Given the description of an element on the screen output the (x, y) to click on. 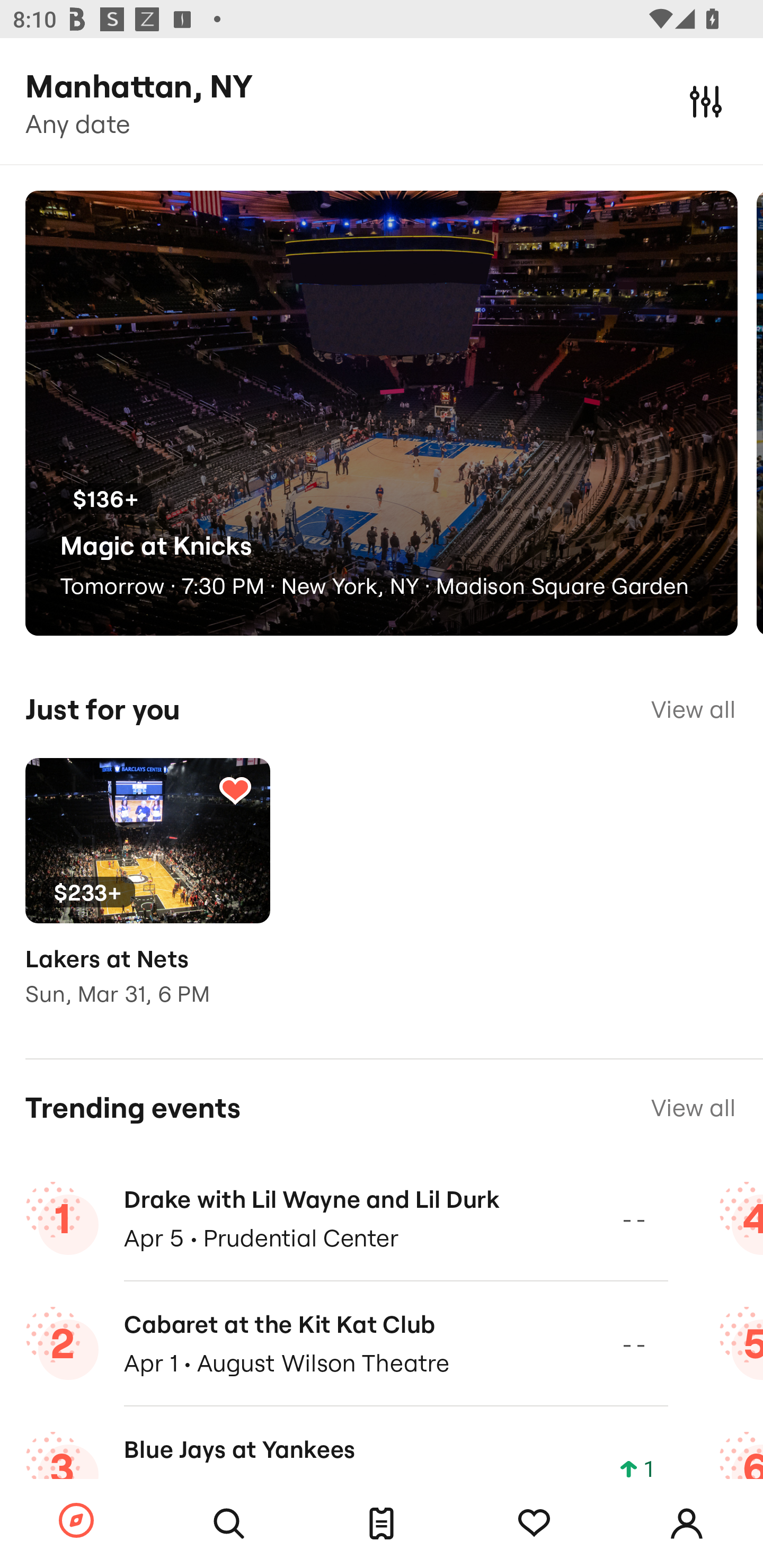
Filters (705, 100)
View all (693, 709)
Tracking $233+ Lakers at Nets Sun, Mar 31, 6 PM (147, 895)
Tracking (234, 790)
View all (693, 1108)
Browse (76, 1521)
Search (228, 1523)
Tickets (381, 1523)
Tracking (533, 1523)
Account (686, 1523)
